Given the description of an element on the screen output the (x, y) to click on. 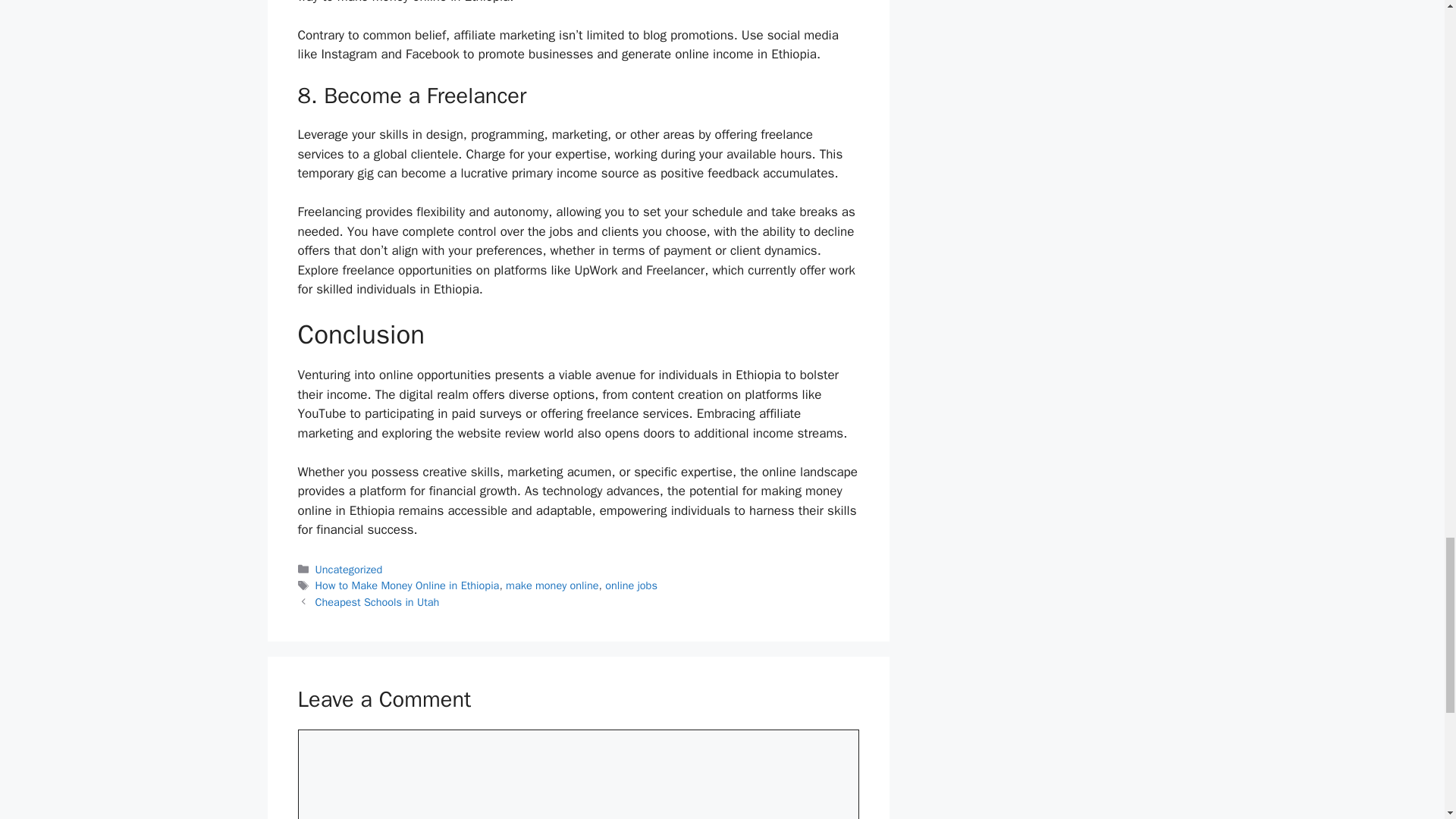
Uncategorized (348, 569)
make money online (551, 585)
How to Make Money Online in Ethiopia (407, 585)
Cheapest Schools in Utah (377, 602)
online jobs (631, 585)
